Given the description of an element on the screen output the (x, y) to click on. 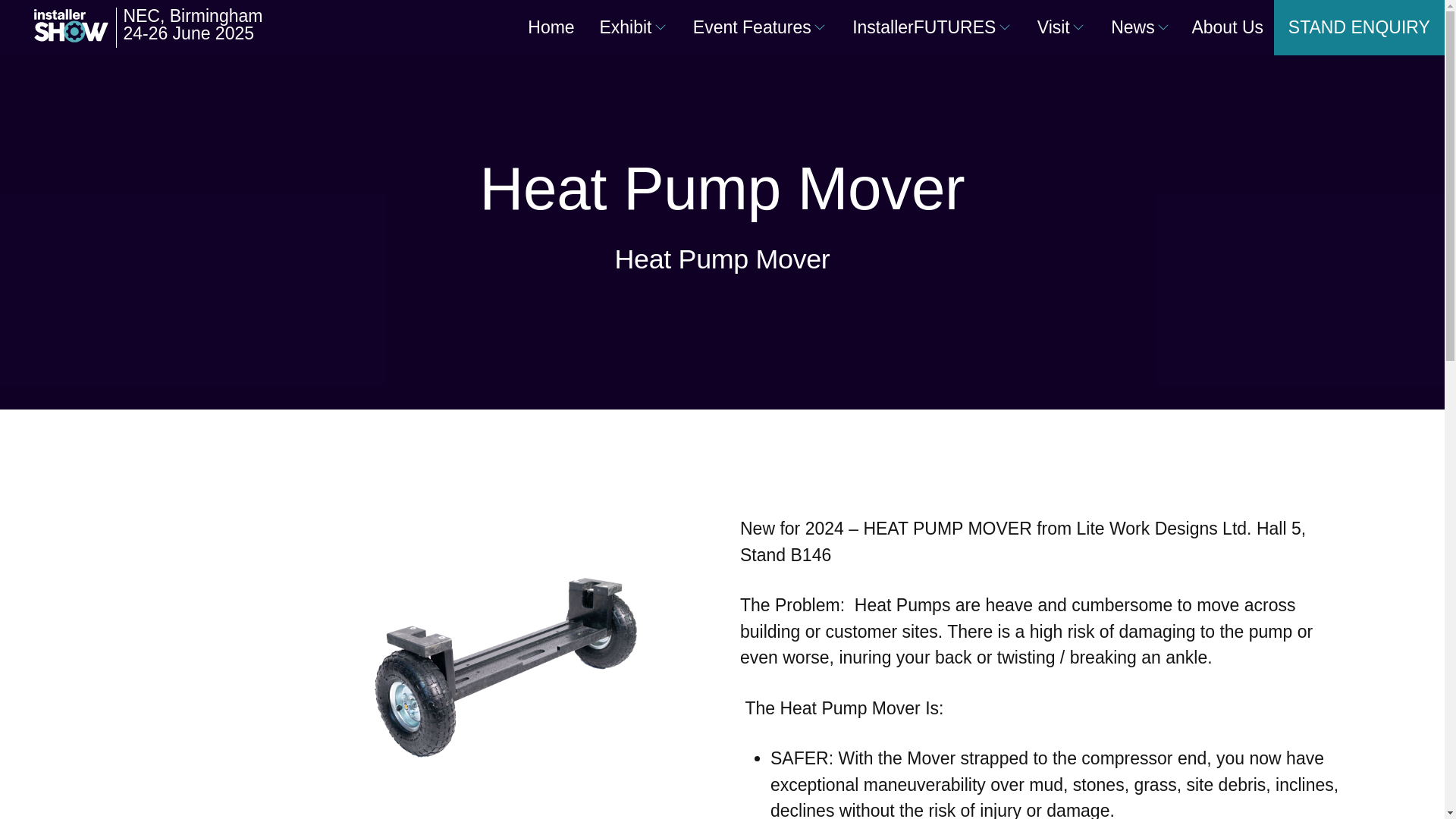
Home (550, 27)
About Us (1227, 27)
Visit (1053, 27)
InstallerFUTURES (924, 27)
Event Features (751, 27)
News (1132, 27)
Exhibit (624, 27)
STAND ENQUIRY (1358, 27)
